Given the description of an element on the screen output the (x, y) to click on. 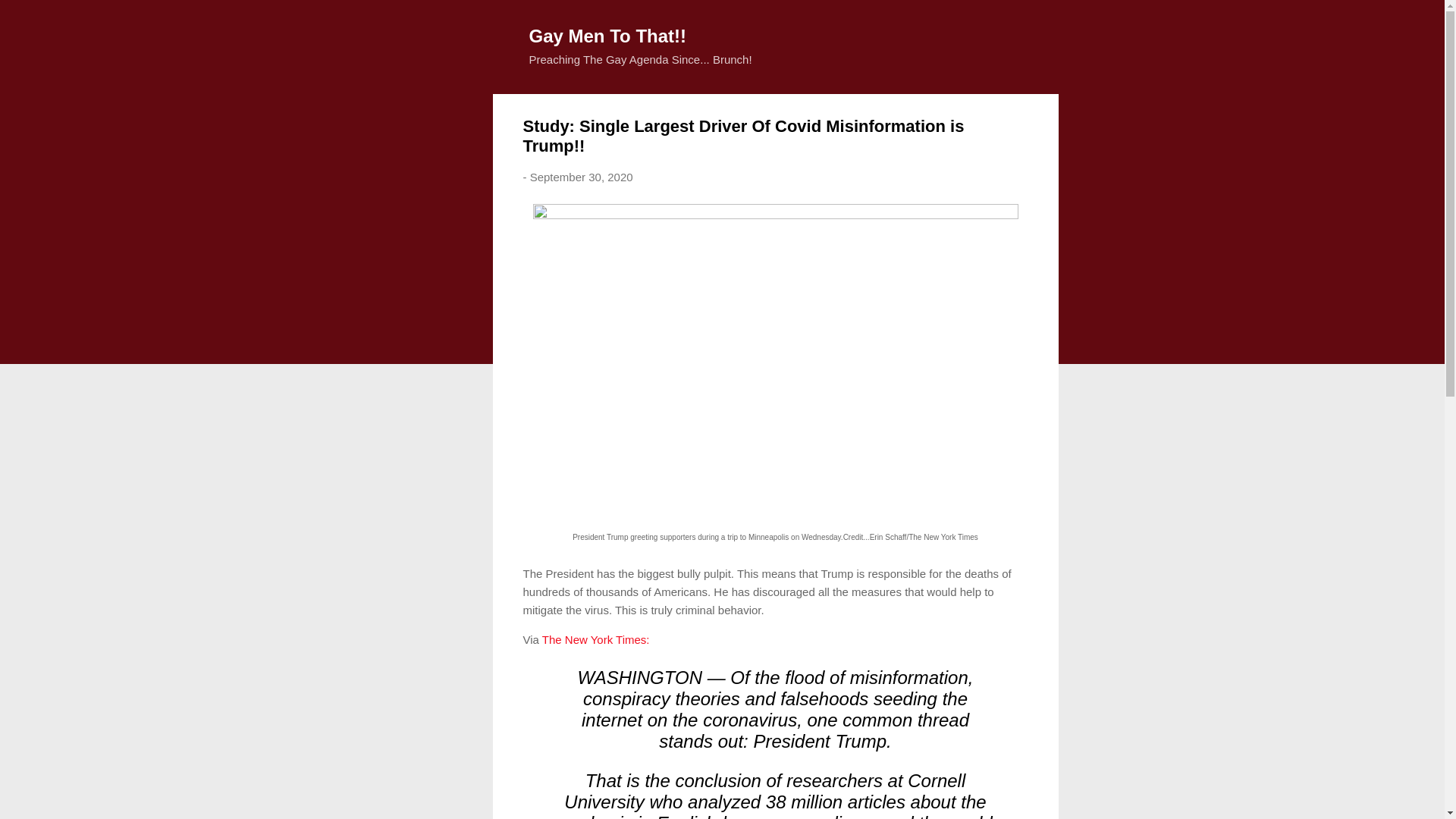
permanent link (581, 176)
The New York Times: (595, 638)
September 30, 2020 (581, 176)
Search (29, 18)
Gay Men To That!! (608, 35)
